Given the description of an element on the screen output the (x, y) to click on. 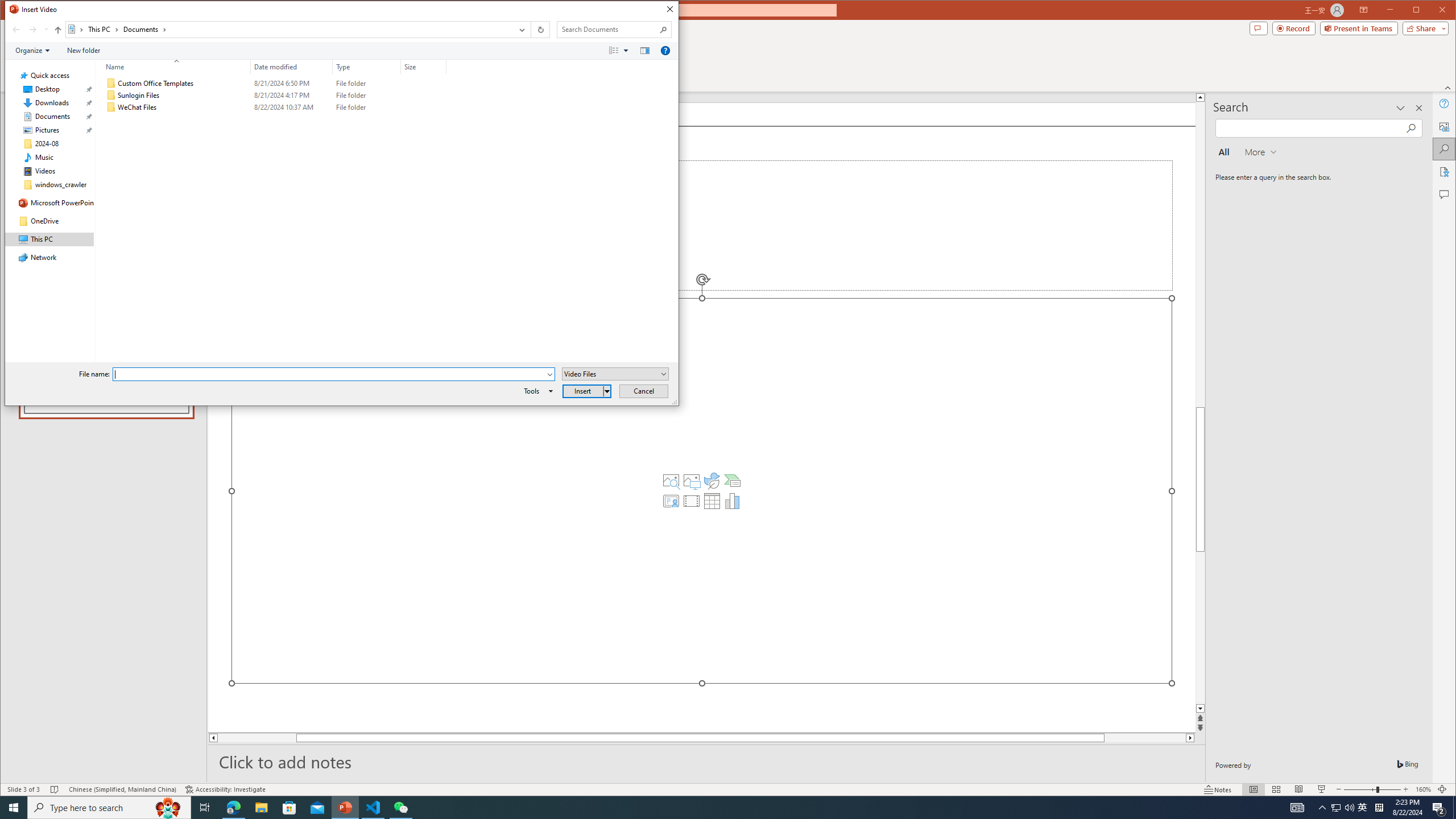
Up band toolbar (57, 31)
Date modified (291, 66)
Back (Alt + Left Arrow) (15, 29)
Insert an Icon (711, 480)
New folder (83, 50)
Documents (144, 29)
Up to "This PC" (Alt + Up Arrow) (57, 29)
Organize (32, 50)
Type (366, 107)
